Given the description of an element on the screen output the (x, y) to click on. 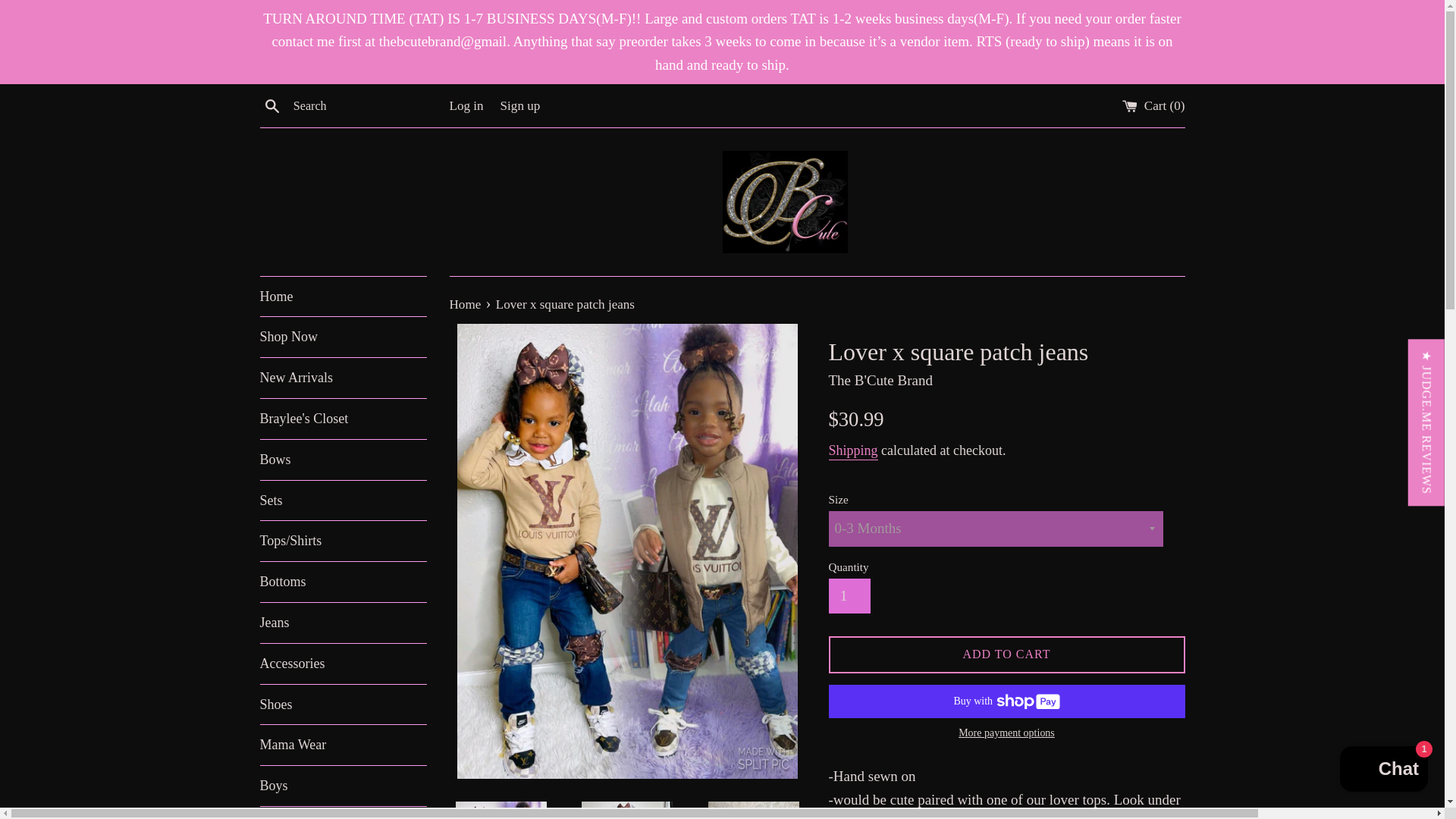
Log in (465, 105)
Shop Now (342, 336)
Home (465, 304)
Home (342, 296)
Back to the frontpage (465, 304)
More payment options (1006, 732)
Bottoms (342, 581)
Boys (342, 785)
New Arrivals (342, 377)
Sign up (520, 105)
Sets (342, 500)
Jeans (342, 622)
Bows (342, 459)
Shopify online store chat (1383, 770)
1 (848, 595)
